Given the description of an element on the screen output the (x, y) to click on. 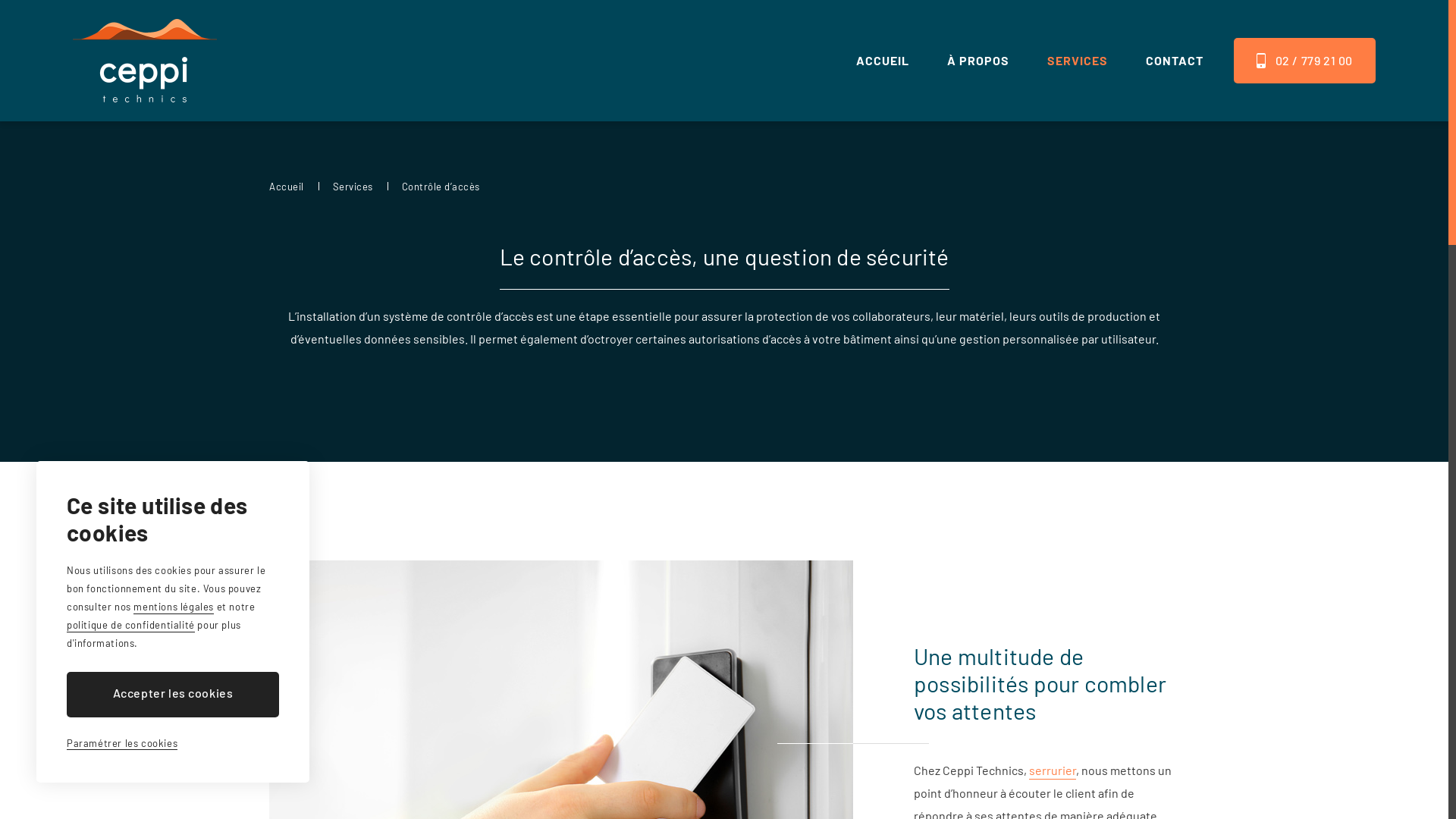
Services Element type: text (352, 186)
Accueil Element type: text (286, 186)
serrurier Element type: text (1052, 770)
Ceppi Technics Element type: hover (144, 60)
SERVICES Element type: text (1077, 60)
ACCUEIL Element type: text (882, 60)
02 / 779 21 00 Element type: text (1304, 60)
CONTACT Element type: text (1174, 60)
